Given the description of an element on the screen output the (x, y) to click on. 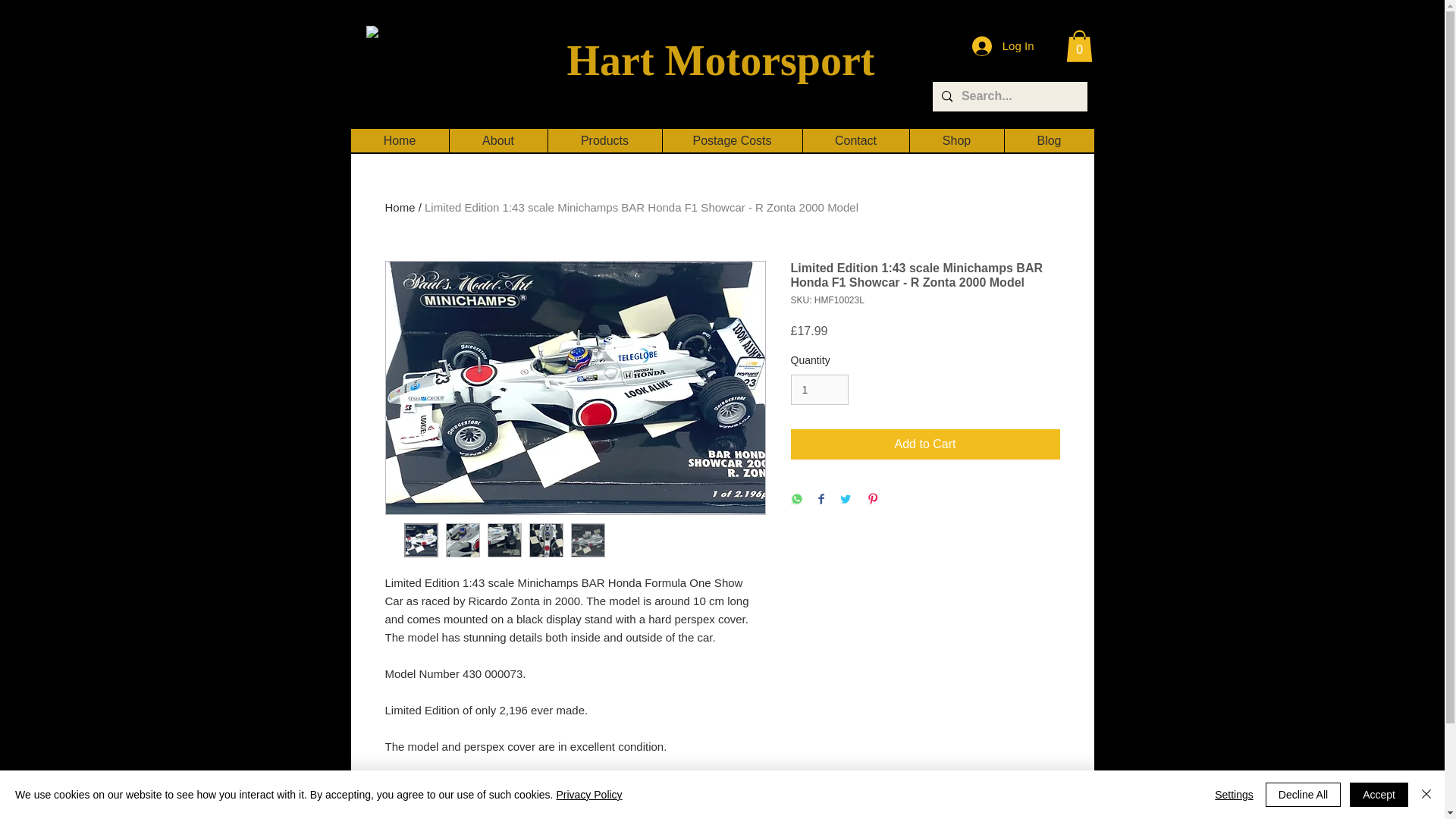
Home (399, 140)
Postage Costs (731, 140)
Add to Cart (924, 444)
Shop (955, 140)
1 (818, 389)
Hart Motorsport (721, 60)
0 (1079, 46)
Log In (1002, 45)
Blog (1049, 140)
Products (604, 140)
Home (399, 206)
Contact (855, 140)
0 (1079, 46)
About (497, 140)
